Given the description of an element on the screen output the (x, y) to click on. 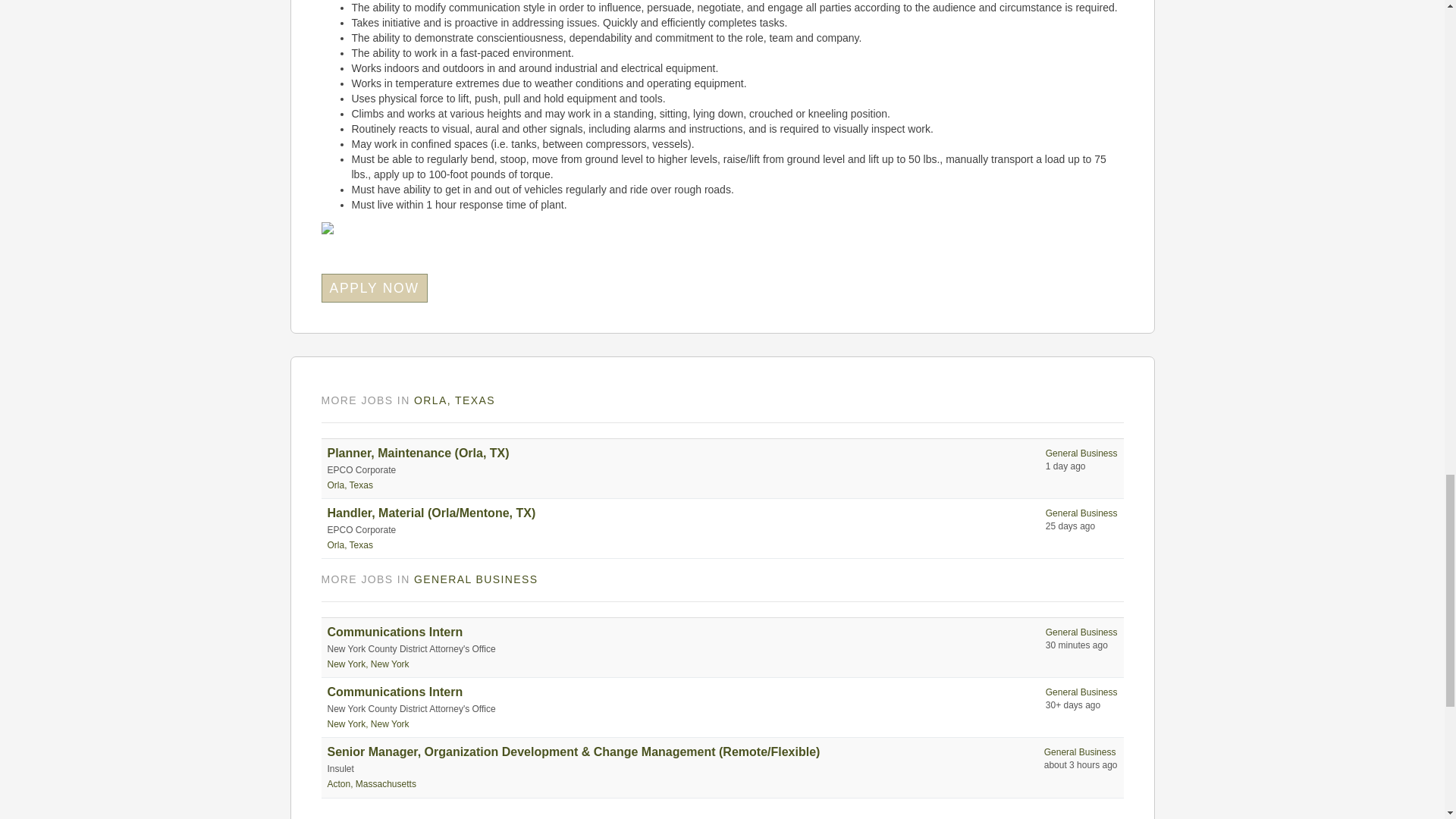
APPLY NOW (374, 287)
General Business (1081, 632)
New York, New York (368, 664)
ORLA, TEXAS (454, 399)
GENERAL BUSINESS (475, 579)
Communications Intern (395, 631)
Communications Intern (395, 691)
General Business (1079, 751)
General Business (1081, 512)
Orla, Texas (349, 544)
General Business (1081, 692)
New York, New York (368, 724)
Acton, Massachusetts (371, 783)
General Business (1081, 452)
Orla, Texas (349, 484)
